Given the description of an element on the screen output the (x, y) to click on. 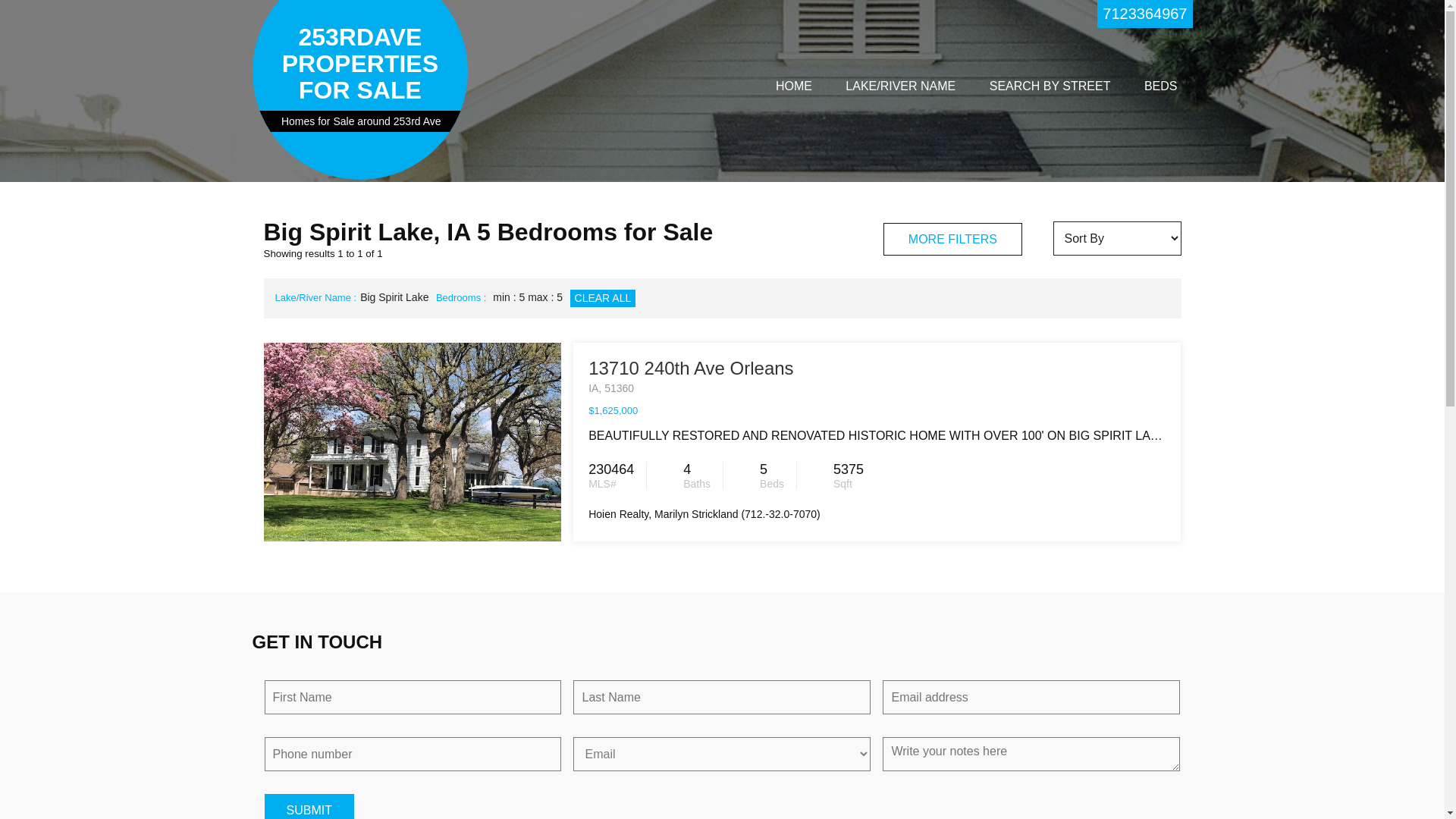
HOME Element type: text (793, 86)
CLEAR ALL Element type: text (603, 298)
MORE FILTERS Element type: text (952, 238)
